Given the description of an element on the screen output the (x, y) to click on. 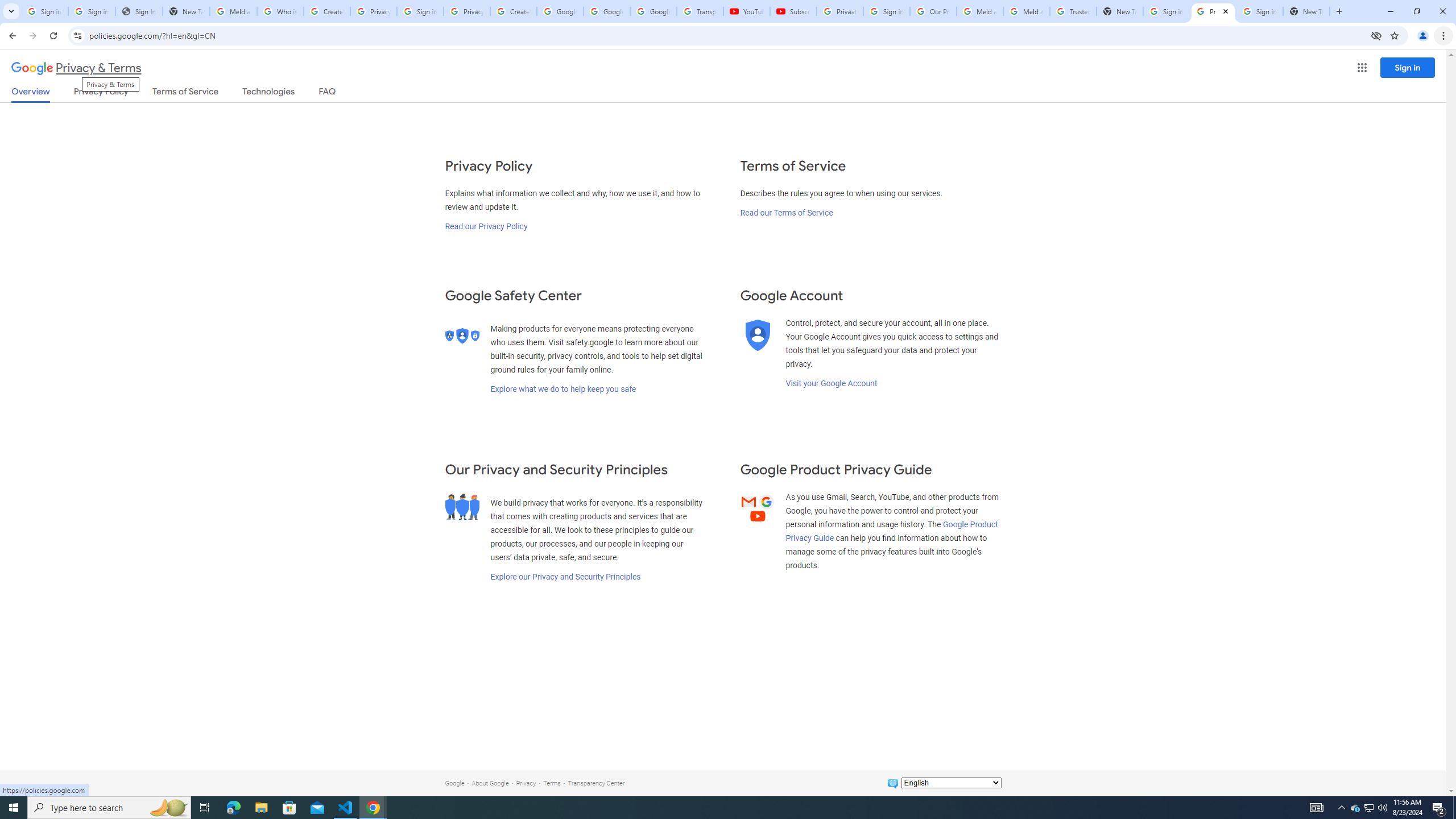
Google apps (1362, 67)
Terms of Service (184, 93)
Sign in - Google Accounts (44, 11)
Forward (32, 35)
New Tab (1120, 11)
Change language: (951, 782)
Sign In - USA TODAY (138, 11)
Create your Google Account (512, 11)
Privacy Policy (100, 93)
New Tab (1306, 11)
Google Product Privacy Guide (891, 530)
Restore (1416, 11)
Privacy (525, 783)
